Given the description of an element on the screen output the (x, y) to click on. 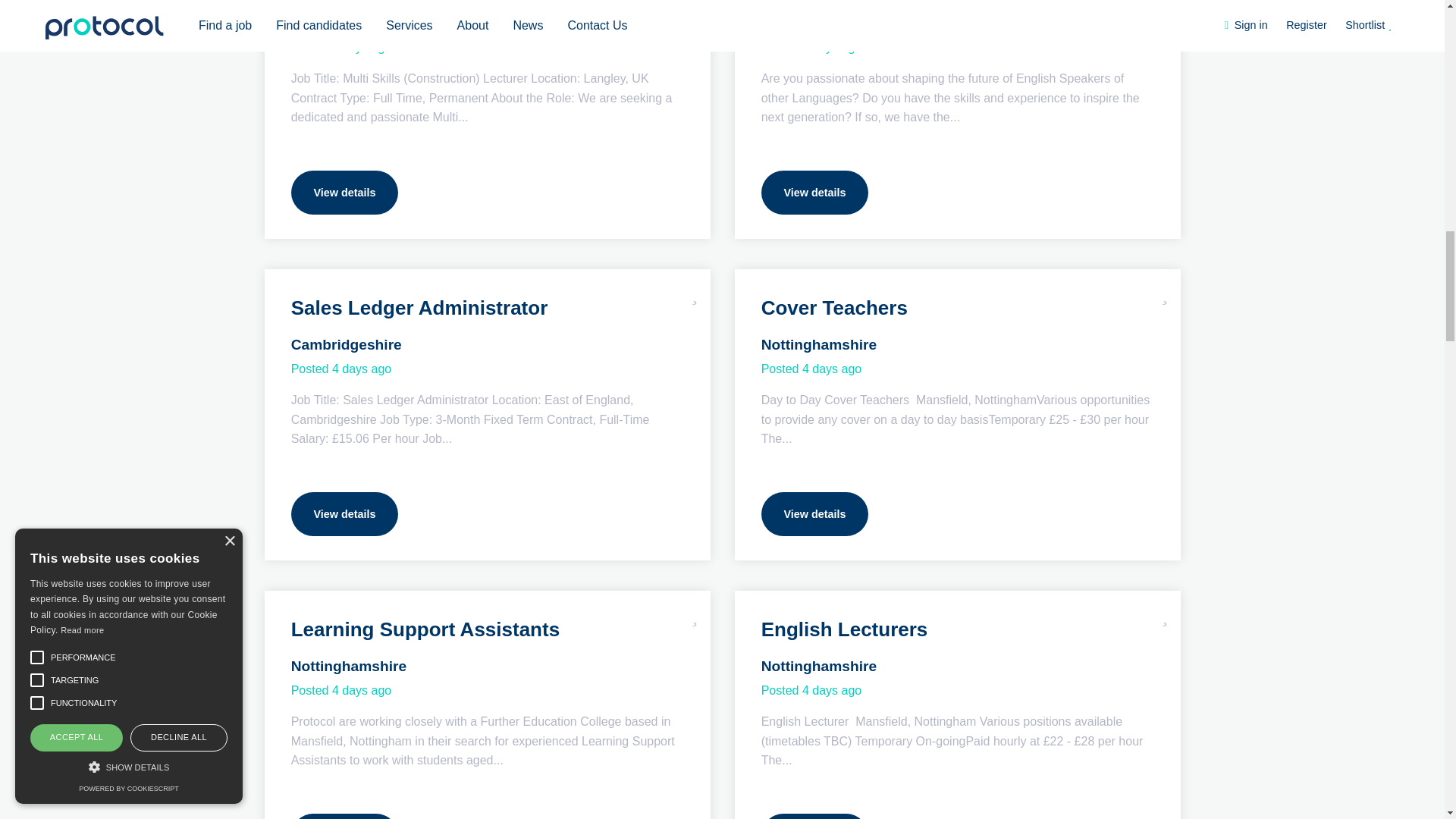
Add this job to shortlist (694, 614)
Add this job to shortlist (694, 292)
Add this job to shortlist (1164, 614)
Add this job to shortlist (1164, 292)
